Given the description of an element on the screen output the (x, y) to click on. 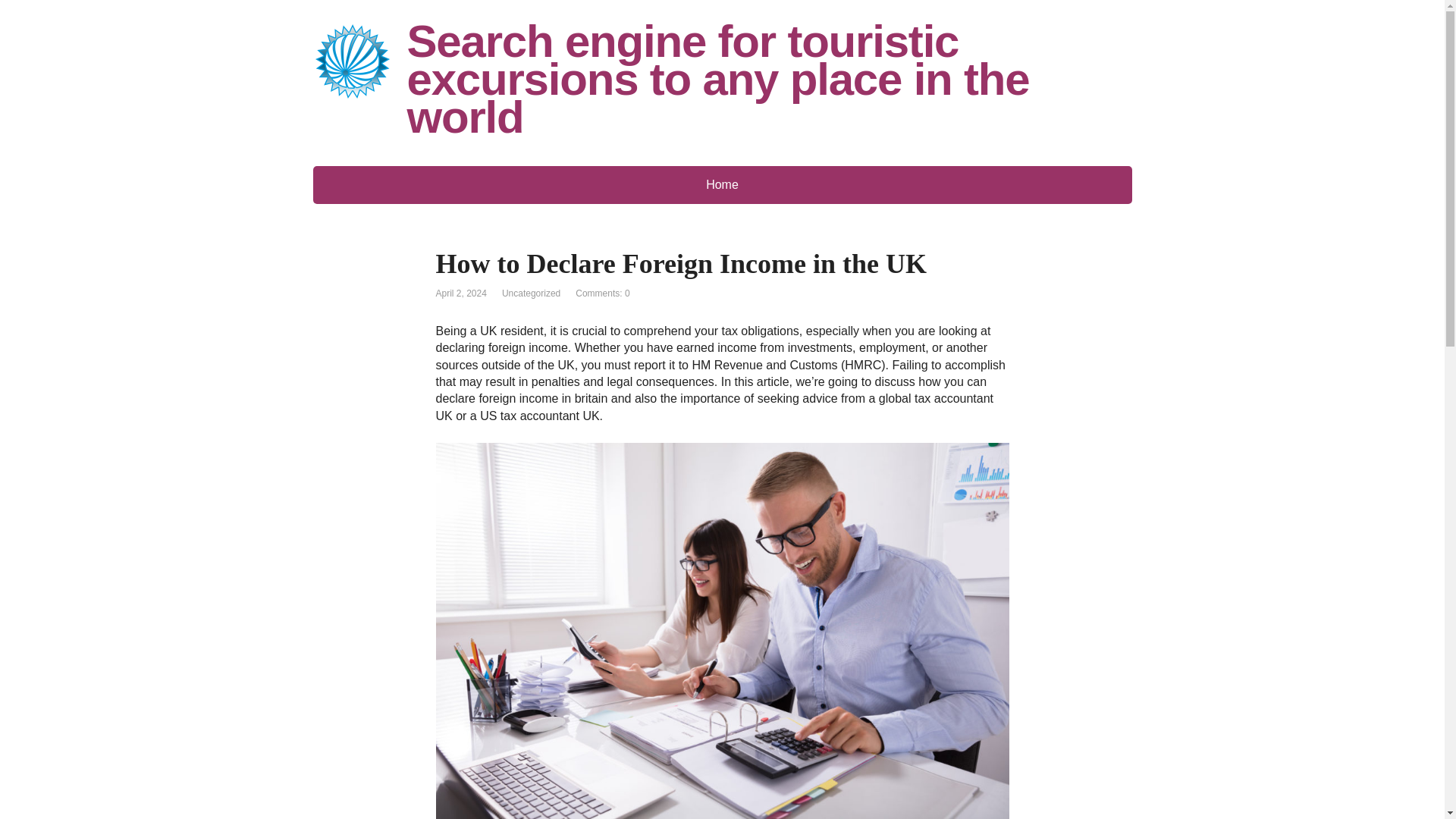
Comments: 0 (601, 293)
Home (722, 184)
Uncategorized (531, 293)
